Given the description of an element on the screen output the (x, y) to click on. 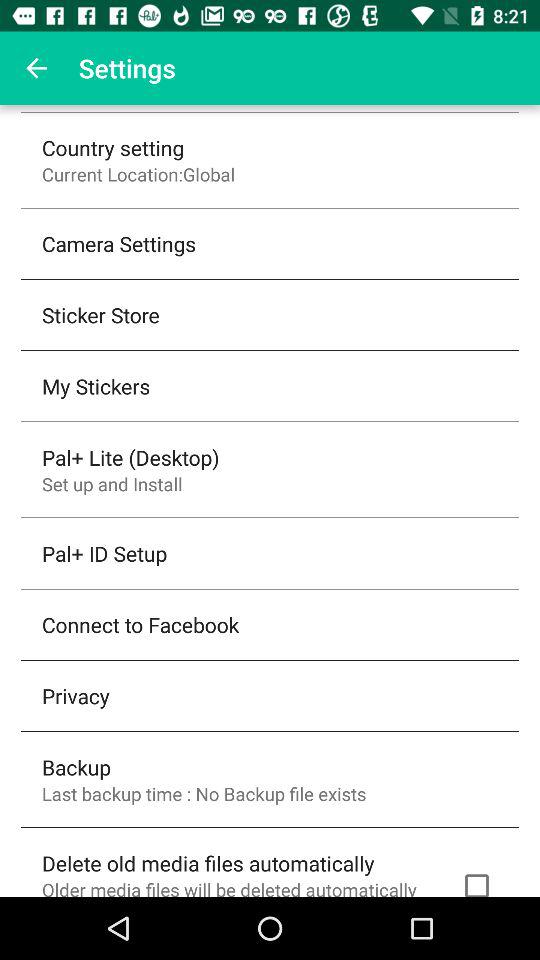
click the icon below the country setting icon (138, 174)
